Given the description of an element on the screen output the (x, y) to click on. 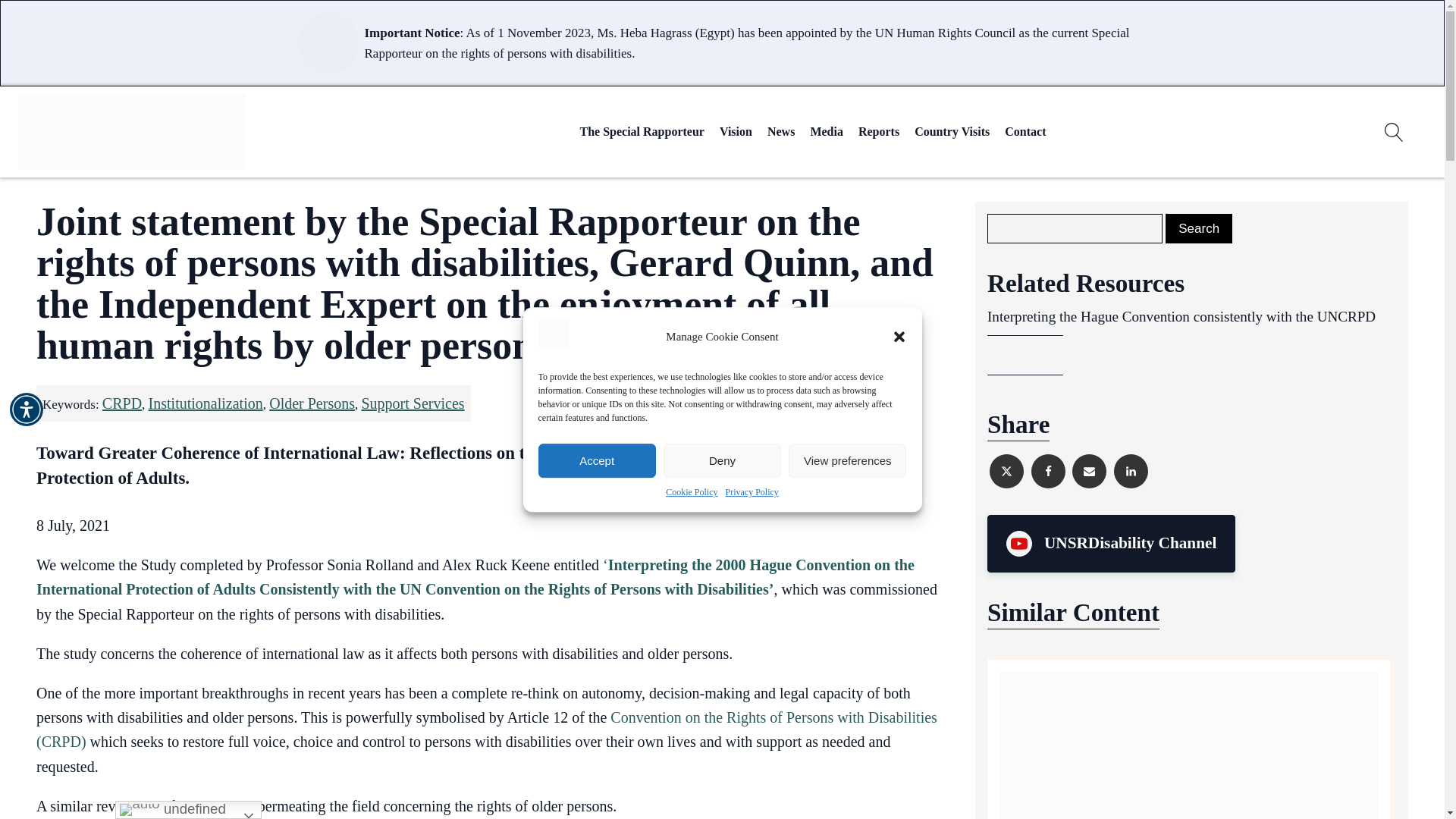
View preferences (847, 461)
Privacy Policy (751, 493)
Accept (597, 461)
Country Visits (952, 132)
Accessibility Menu (26, 409)
Media (826, 132)
undefined (188, 809)
Search (1198, 228)
Vision (735, 132)
The Special Rapporteur (641, 132)
